Given the description of an element on the screen output the (x, y) to click on. 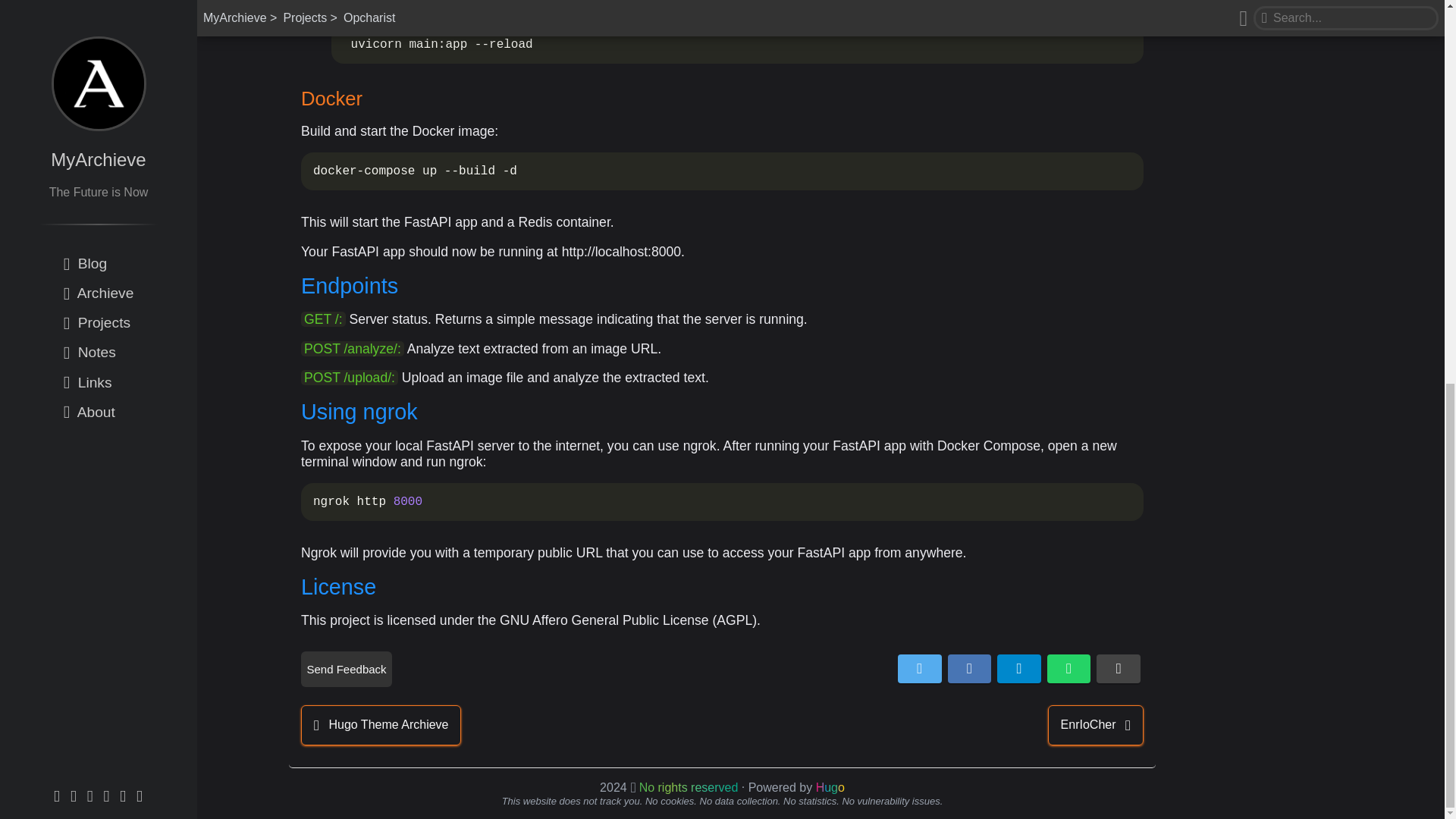
EnrIoCher (1095, 725)
Hugo Theme Archieve (381, 725)
Hugo (829, 787)
Send Feedback (346, 669)
No rights reserved (688, 787)
